Given the description of an element on the screen output the (x, y) to click on. 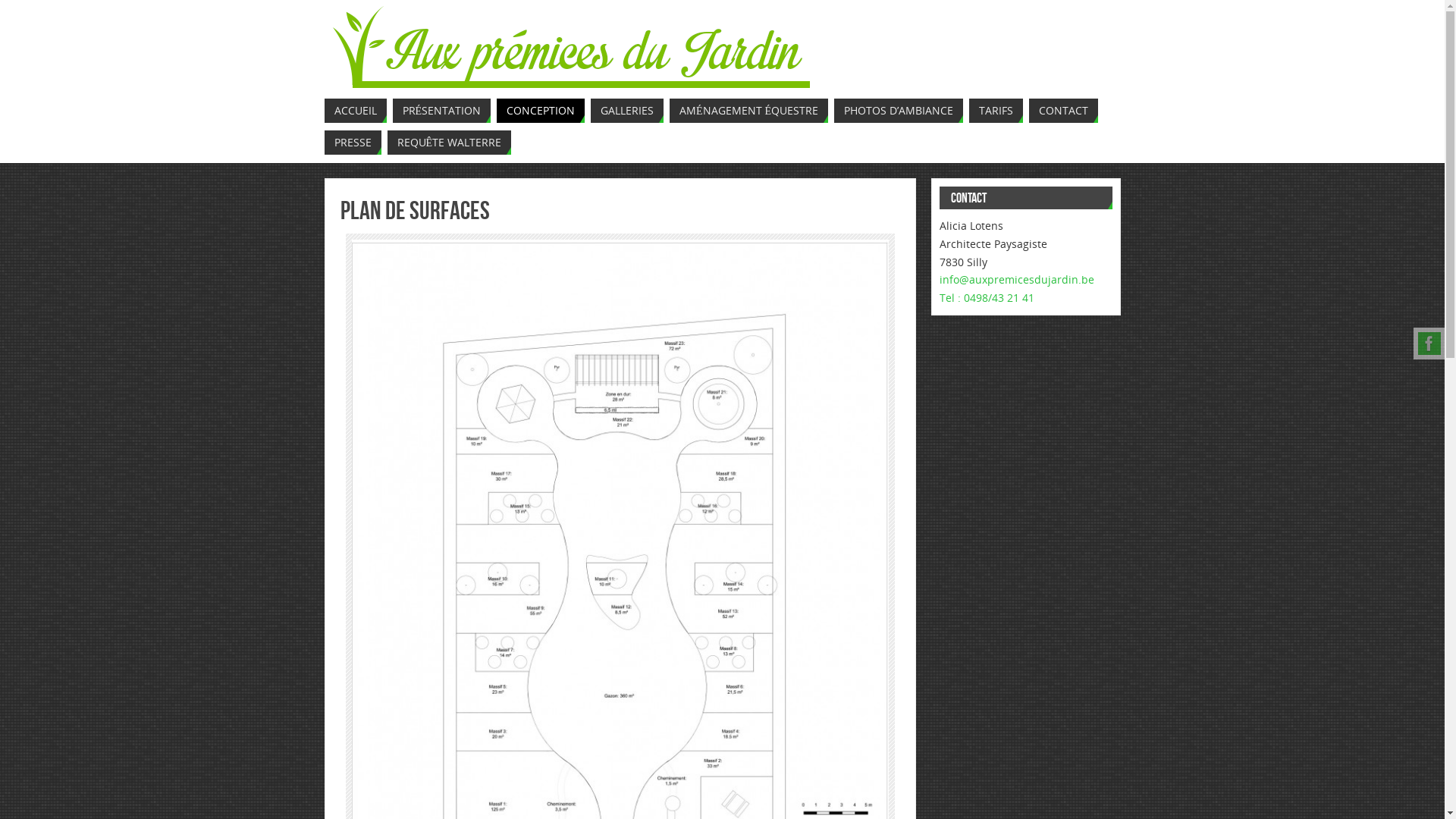
CONCEPTION Element type: text (540, 110)
Tel : 0498/43 21 41 Element type: text (1024, 297)
GALLERIES Element type: text (626, 110)
TARIFS Element type: text (995, 110)
Facebook Element type: hover (1429, 343)
PRESSE Element type: text (352, 142)
ACCUEIL Element type: text (355, 110)
CONTACT Element type: text (1063, 110)
info@auxpremicesdujardin.be Element type: text (1015, 279)
